Given the description of an element on the screen output the (x, y) to click on. 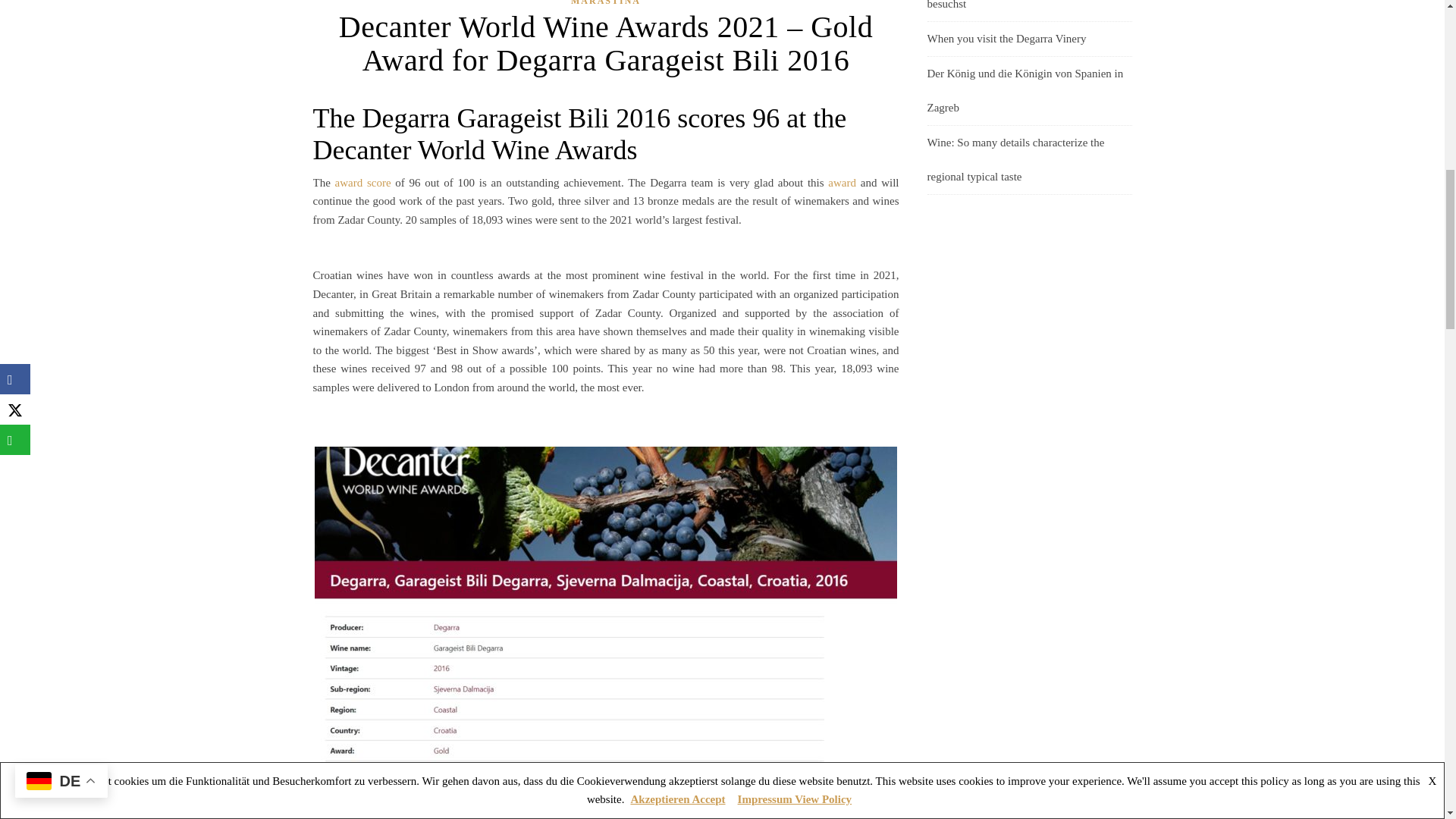
award (842, 182)
award score (362, 182)
